Given the description of an element on the screen output the (x, y) to click on. 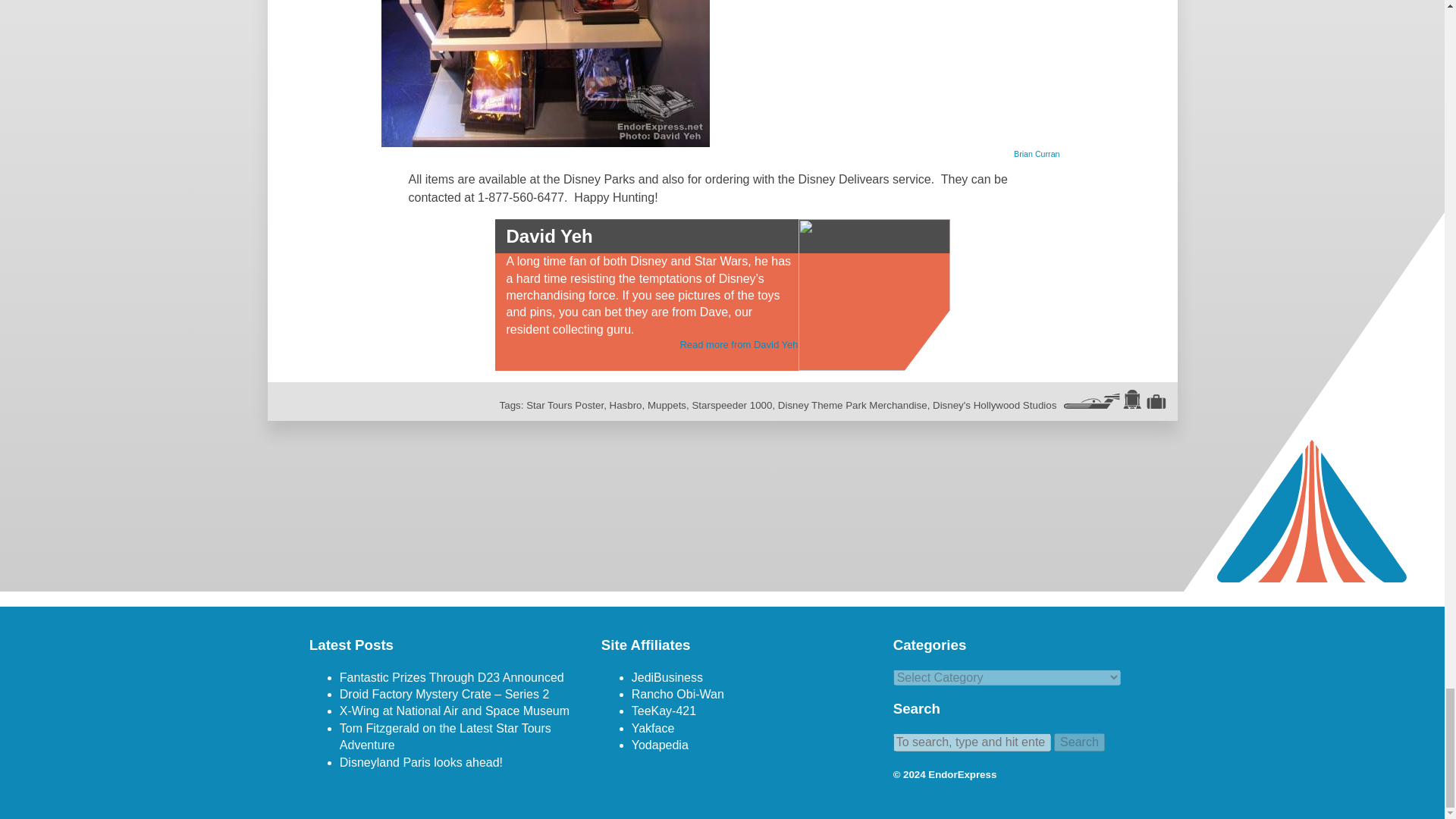
Fantastic Prizes Through D23 Announced (451, 676)
Hasbro (626, 405)
Muppets (666, 405)
Dutch Wookieepedia (659, 744)
Rancho Obi-Wan (677, 694)
Star Tours Poster (564, 405)
Tom Fitzgerald on the Latest Star Tours Adventure (445, 736)
Disney's Hollywood Studios (995, 405)
JediBusiness (667, 676)
Serving Star Wars Collectors Worldwide (653, 727)
Disneyland Paris looks ahead! (420, 762)
The Star Wars Action Figure Database (667, 676)
Disney Theme Park Merchandise (852, 405)
Brian Curran (1036, 153)
TeeKay-421 (663, 710)
